Given the description of an element on the screen output the (x, y) to click on. 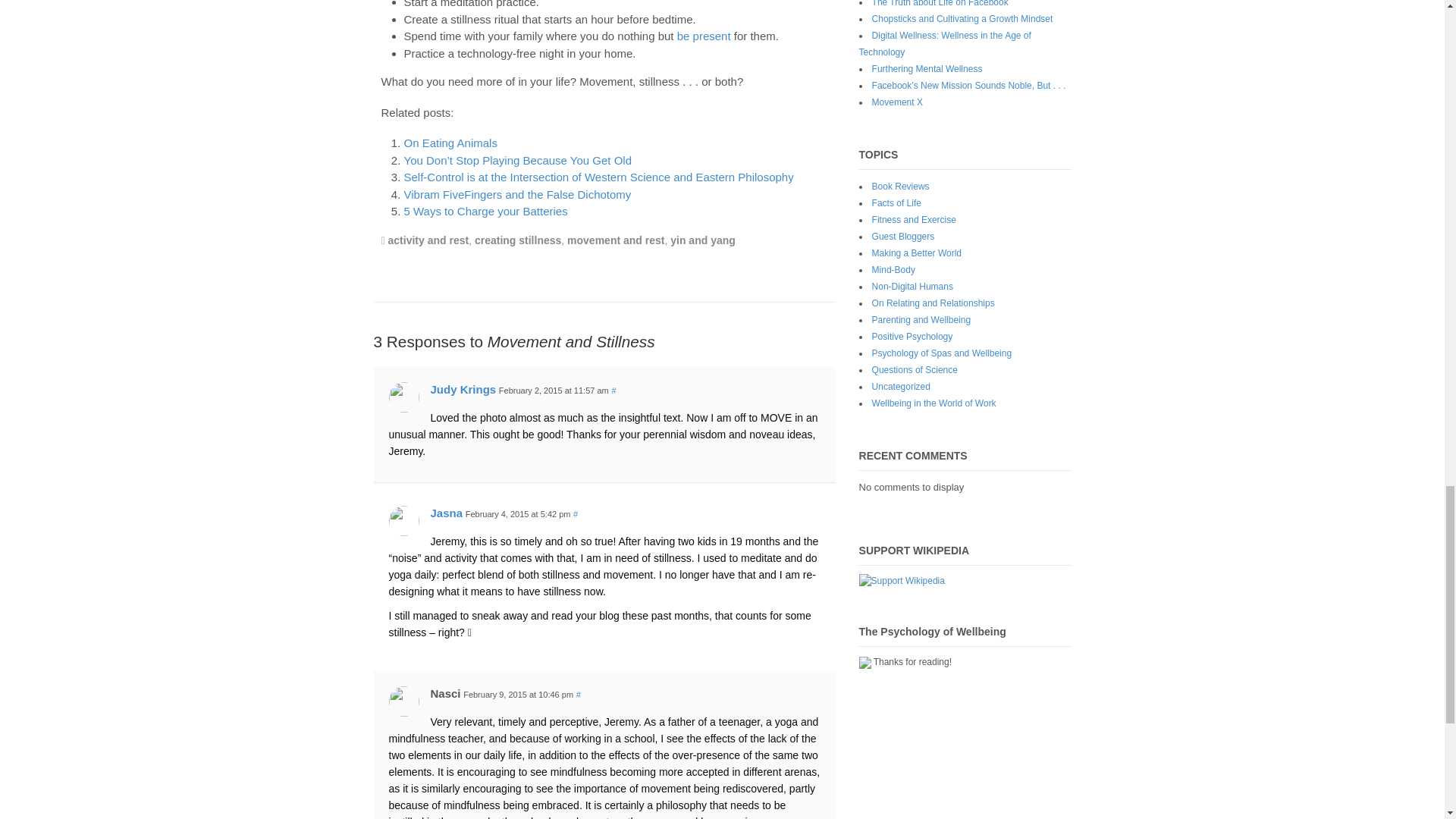
Vibram FiveFingers and the False Dichotomy (516, 194)
creating stillness (517, 240)
be present (703, 35)
activity and rest (428, 240)
Vibram FiveFingers and the False Dichotomy (516, 194)
5 Ways to Charge your Batteries (485, 210)
movement and rest (615, 240)
yin and yang (702, 240)
